Given the description of an element on the screen output the (x, y) to click on. 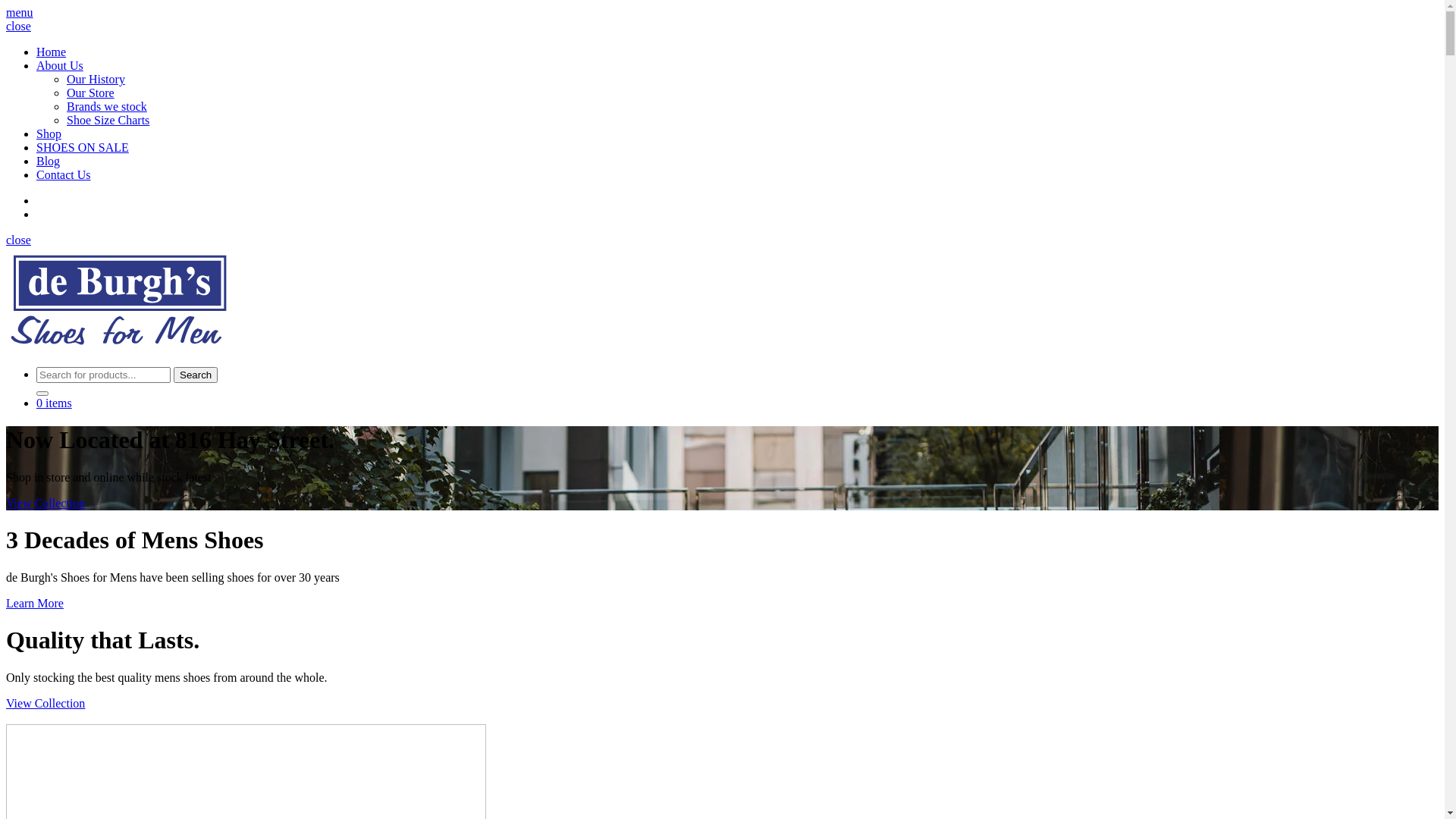
Learn More Element type: text (34, 602)
View Collection Element type: text (45, 502)
Contact Us Element type: text (63, 174)
close Element type: text (18, 239)
Home Element type: text (50, 51)
Blog Element type: text (47, 160)
Brands we stock Element type: text (106, 106)
View Collection Element type: text (45, 702)
menu Element type: text (19, 12)
Shoe Size Charts Element type: text (107, 119)
About Us Element type: text (59, 65)
Search Element type: text (195, 374)
0 items Element type: text (54, 402)
Our History Element type: text (95, 78)
Shop Element type: text (48, 133)
SHOES ON SALE Element type: text (82, 147)
close Element type: text (18, 25)
Our Store Element type: text (90, 92)
Search Element type: hover (195, 374)
de Burgh's Shoes for Men Element type: hover (119, 347)
